Given the description of an element on the screen output the (x, y) to click on. 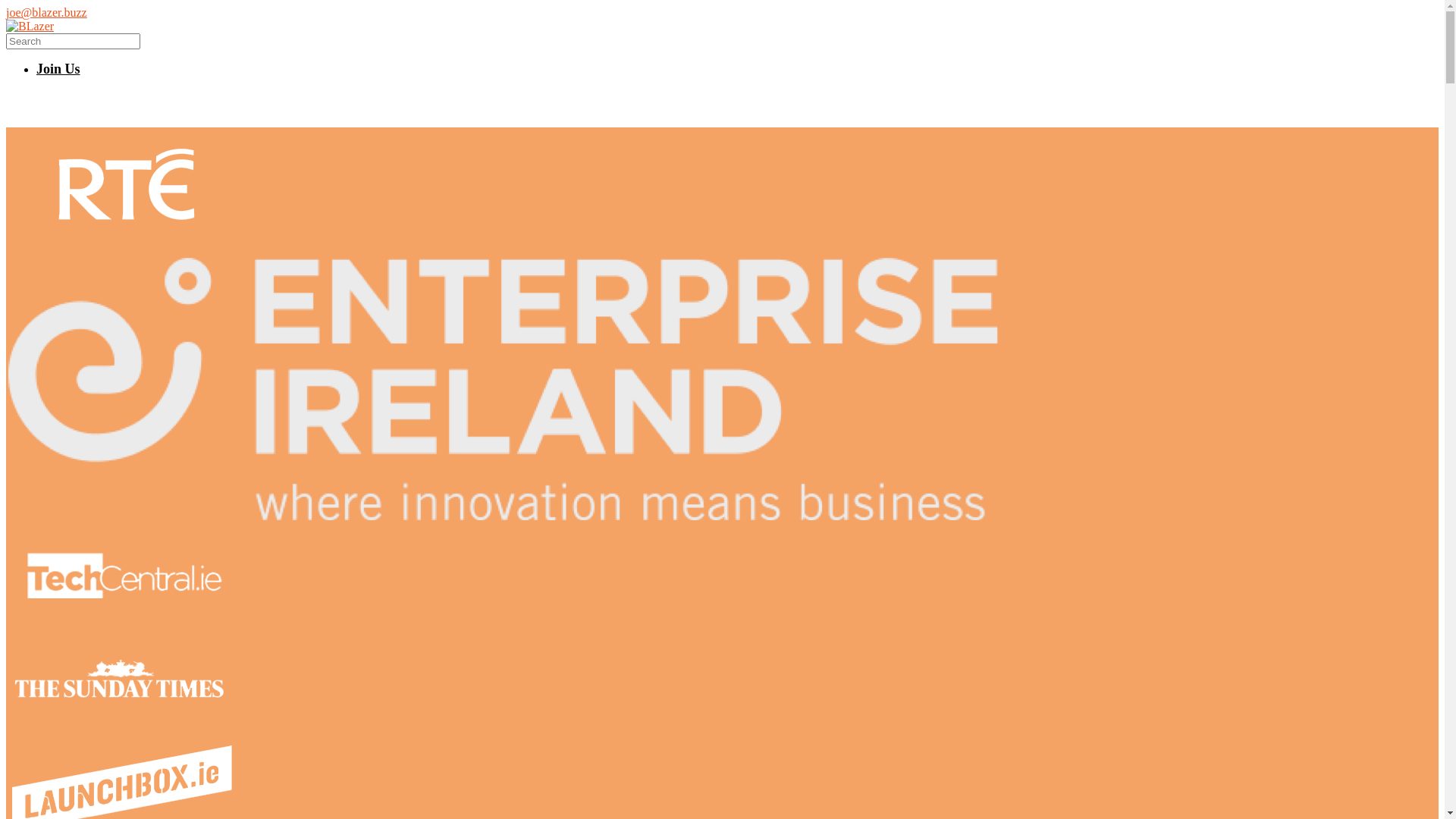
Join Us Element type: text (58, 68)
joe@blazer.buzz Element type: text (46, 12)
